Given the description of an element on the screen output the (x, y) to click on. 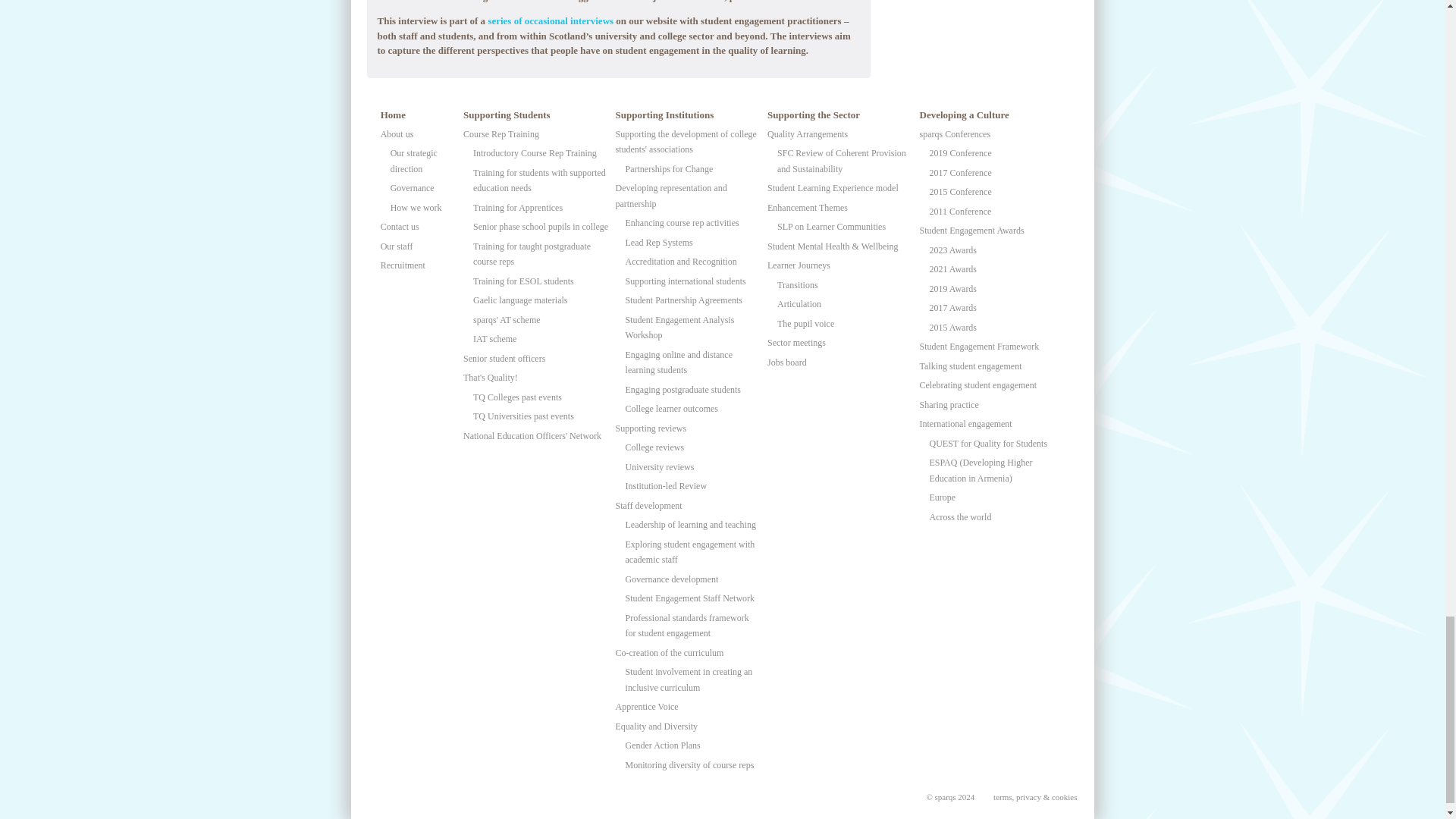
series of occasional interviews (549, 20)
contact us (778, 1)
